Given the description of an element on the screen output the (x, y) to click on. 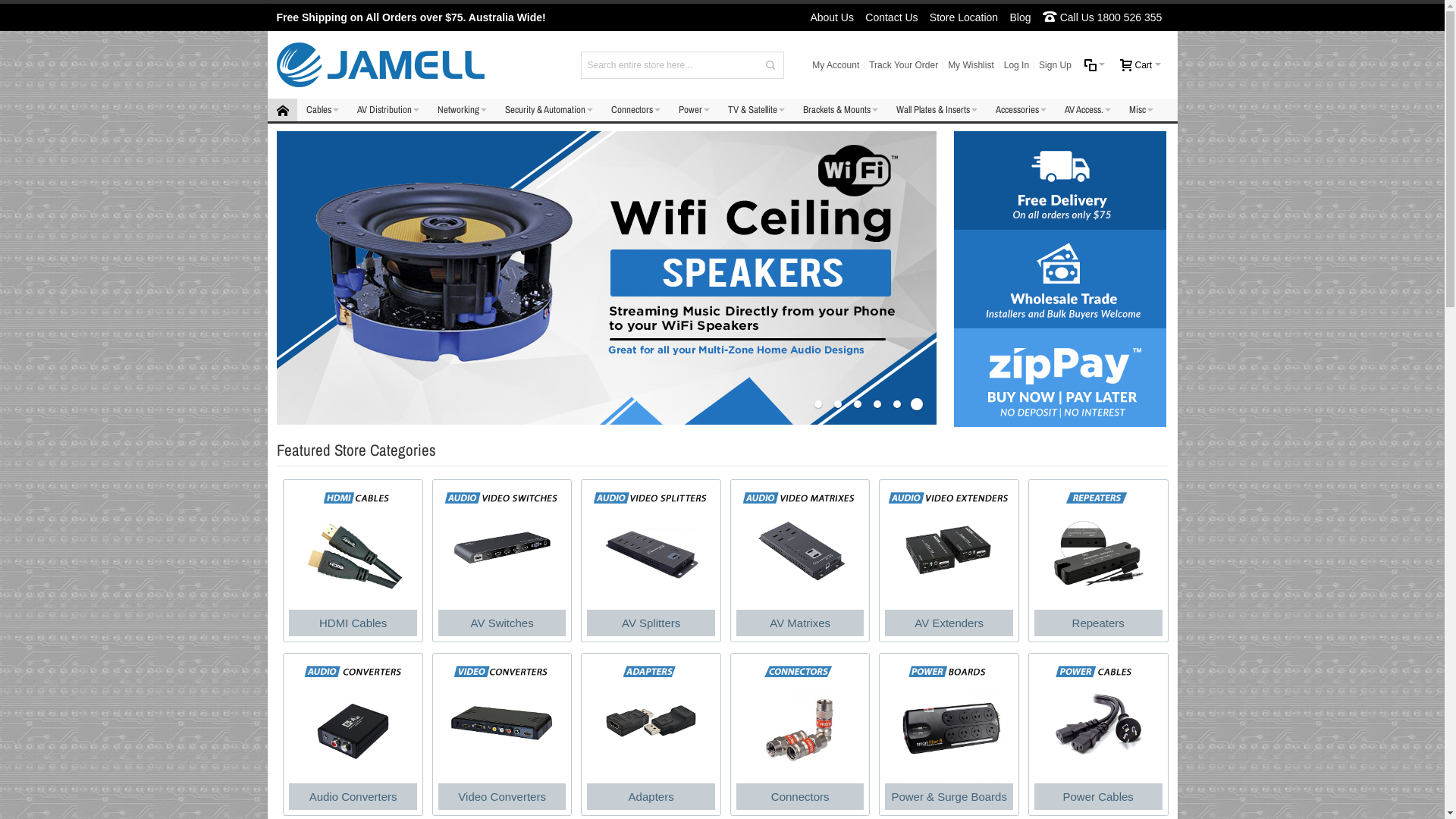
You have no items to compare. Element type: hover (1094, 64)
TV & Satellite  Element type: text (755, 109)
Repeaters Element type: text (1098, 561)
AV Splitters Element type: text (650, 561)
Security & Automation  Element type: text (548, 109)
Power Cables Element type: text (1098, 734)
Wall Plates & Inserts  Element type: text (936, 109)
Log In Element type: text (1016, 64)
My Account Element type: text (835, 64)
AV Distribution  Element type: text (387, 109)
Connectors  Element type: text (635, 109)
Contact Us Element type: text (891, 17)
Networking  Element type: text (461, 109)
Search Element type: hover (770, 64)
Brackets & Mounts  Element type: text (839, 109)
Power  Element type: text (693, 109)
AV Switches Element type: text (502, 561)
Adapters Element type: text (650, 734)
Misc  Element type: text (1140, 109)
About Us Element type: text (831, 17)
Accessories  Element type: text (1019, 109)
HDMI Cables Element type: text (352, 561)
Cables  Element type: text (322, 109)
AV Matrixes Element type: text (800, 561)
Connectors Element type: text (800, 734)
Power & Surge Boards Element type: text (948, 734)
Blog Element type: text (1019, 17)
AV Extenders Element type: text (948, 561)
My Wishlist Element type: text (970, 64)
Audio Converters Element type: text (352, 734)
Sign Up Element type: text (1054, 64)
Video Converters Element type: text (502, 734)
Store Location Element type: text (963, 17)
Jamell Cables Element type: hover (379, 64)
Cart   Element type: text (1139, 64)
AV Access.  Element type: text (1087, 109)
Track Your Order Element type: text (903, 64)
Call Us 1800 526 355 Element type: text (1102, 17)
